Given the description of an element on the screen output the (x, y) to click on. 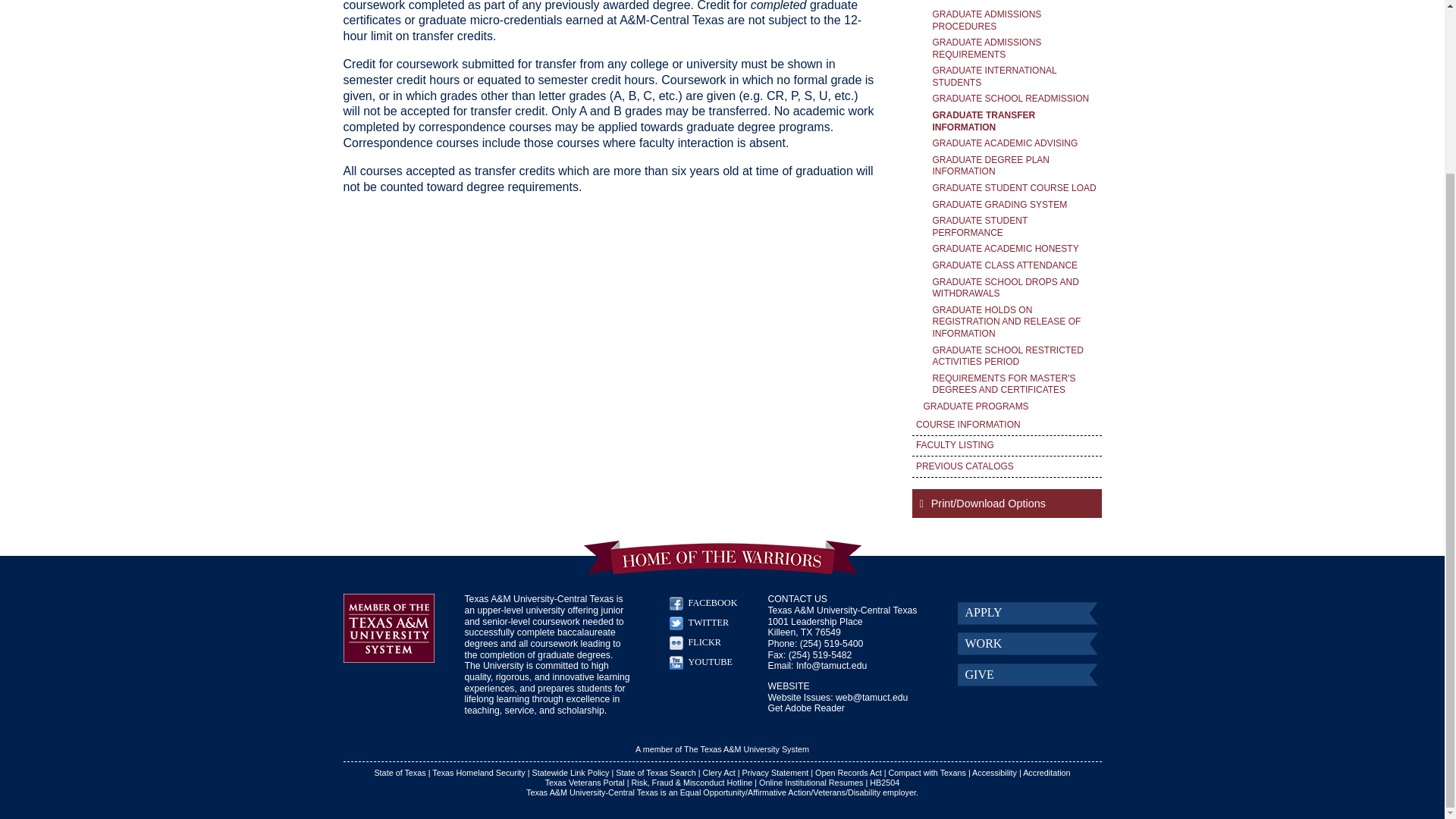
GRADUATE PROGRAMS (1010, 406)
COURSE INFORMATION (1005, 425)
GRADUATE ACADEMIC ADVISING (1015, 143)
GRADUATE TRANSFER INFORMATION (1015, 121)
GRADUATE STUDENT PERFORMANCE (1015, 226)
TWITTER (708, 622)
GRADUATE CLASS ATTENDANCE (1015, 265)
GRADUATE SCHOOL READMISSION (1015, 98)
FACULTY LISTING (1005, 445)
GRADUATE ACADEMIC HONESTY (1015, 248)
